Given the description of an element on the screen output the (x, y) to click on. 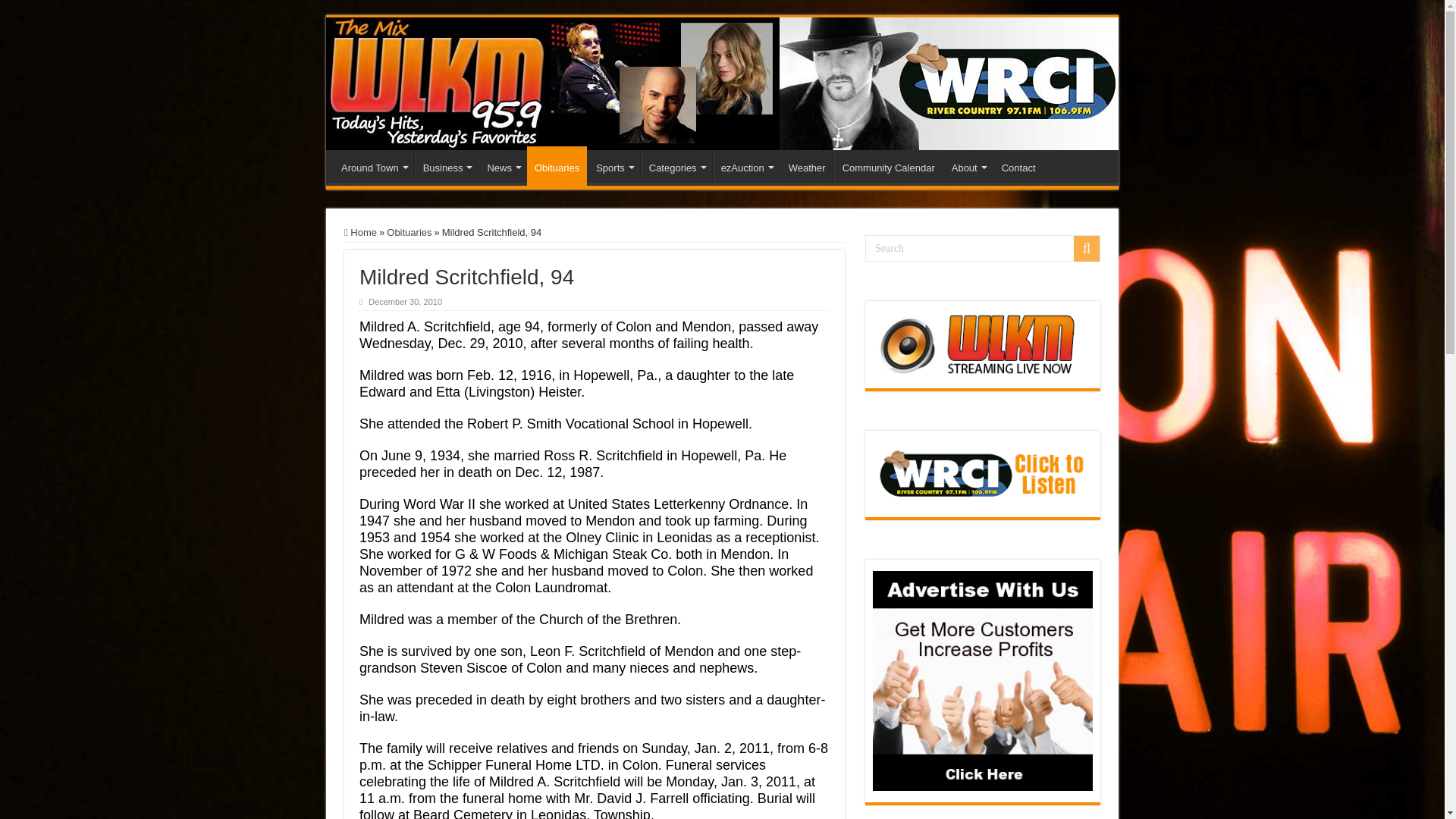
Search (982, 248)
WLKM Radio 95.9 FM (722, 83)
